Given the description of an element on the screen output the (x, y) to click on. 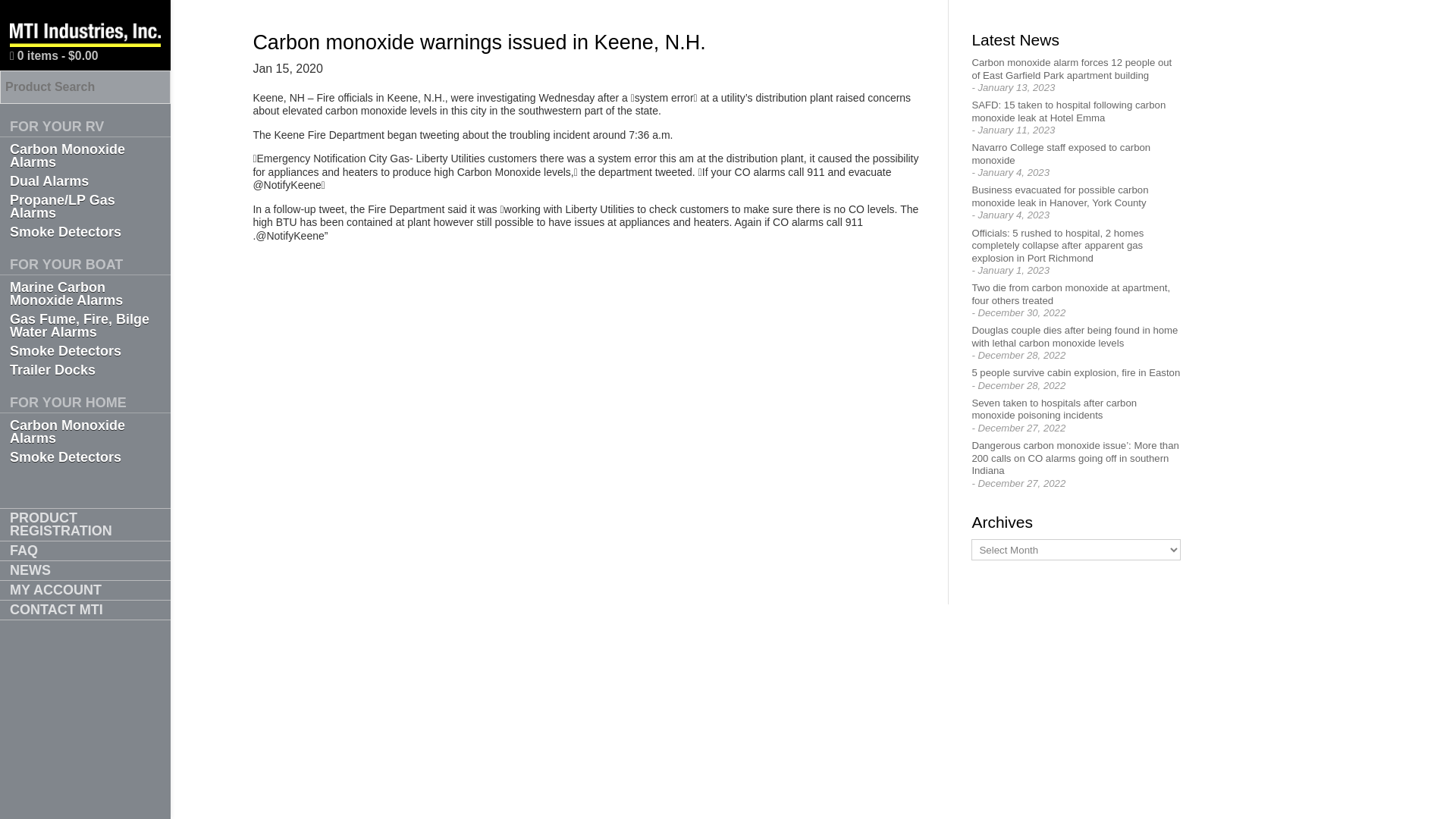
Carbon Monoxide Alarms (85, 431)
MY ACCOUNT (85, 590)
Smoke Detectors (85, 456)
Gas Fume, Fire, Bilge Water Alarms (85, 326)
FOR YOUR BOAT (85, 265)
Smoke Detectors (85, 231)
NEWS (85, 570)
Start shopping (53, 55)
FAQ (85, 551)
Marine Carbon Monoxide Alarms (85, 294)
PRODUCT REGISTRATION (85, 524)
Trailer Docks (85, 370)
Smoke Detectors (85, 351)
FOR YOUR RV (85, 127)
FOR YOUR HOME (85, 403)
